Given the description of an element on the screen output the (x, y) to click on. 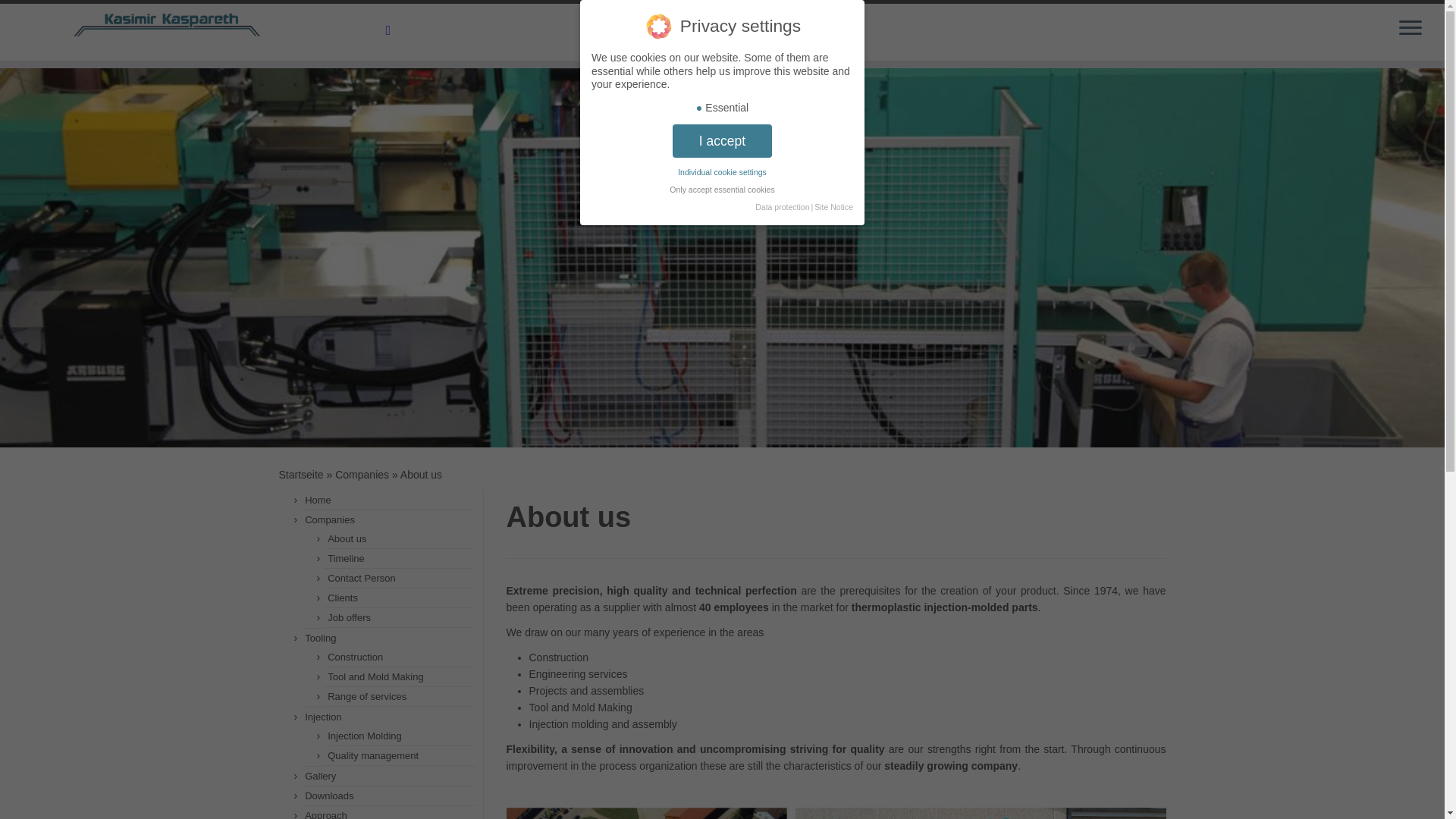
Tooling (320, 637)
Companies (361, 474)
Contact Person (361, 577)
Tool and Mold Making (375, 676)
Companies (329, 519)
Range of services (366, 696)
Timeline (346, 558)
Construction (354, 656)
Job offers (349, 617)
Companies (361, 474)
Injection (322, 716)
Home (317, 500)
Follow us on Facebook (392, 29)
Startseite (301, 474)
Clients (342, 597)
